Given the description of an element on the screen output the (x, y) to click on. 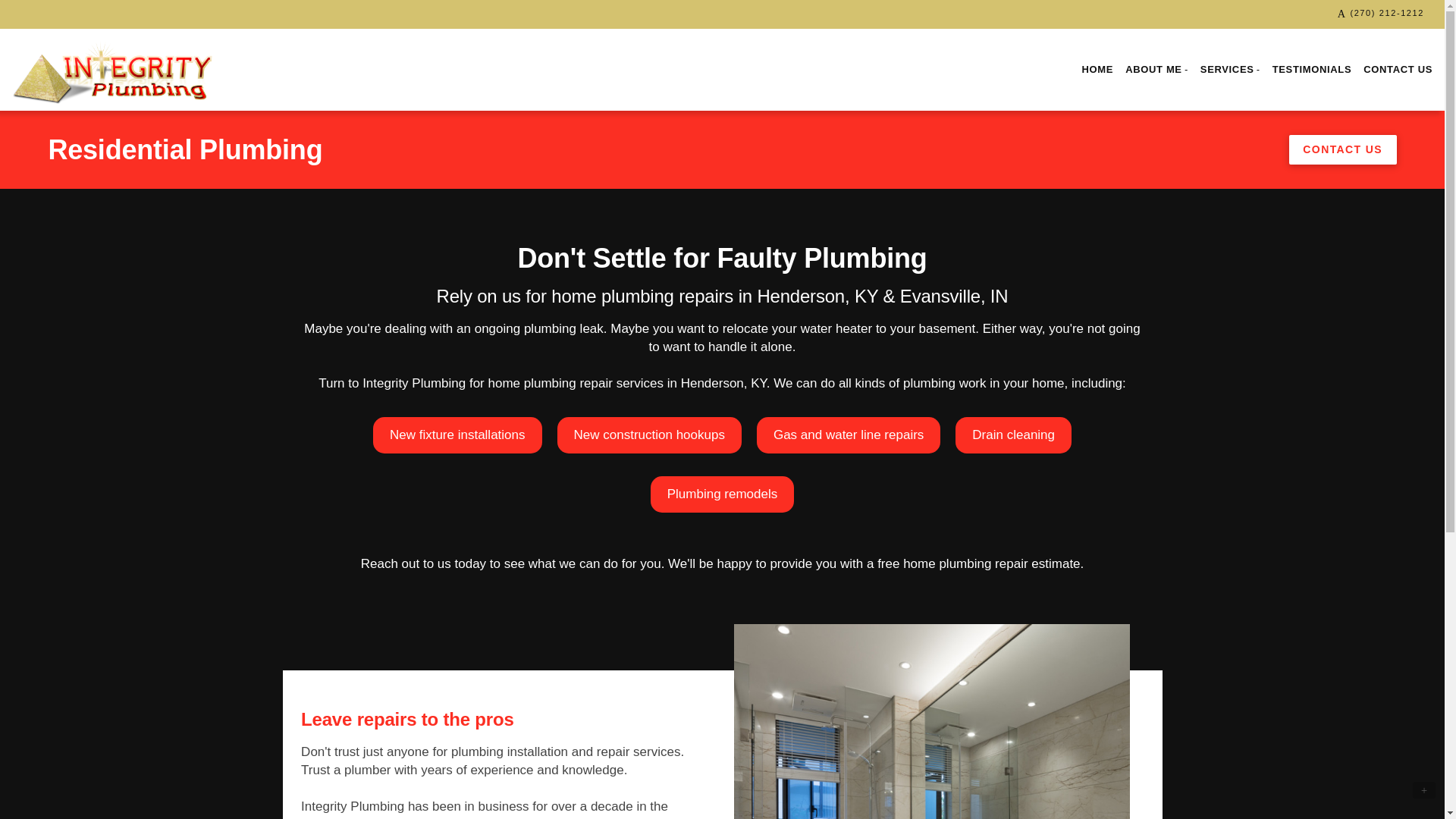
HOME (1097, 69)
CONTACT US (1397, 69)
TESTIMONIALS (1312, 69)
SERVICES (1229, 69)
ABOUT ME (1156, 69)
Integrity Plumbing (112, 69)
